Given the description of an element on the screen output the (x, y) to click on. 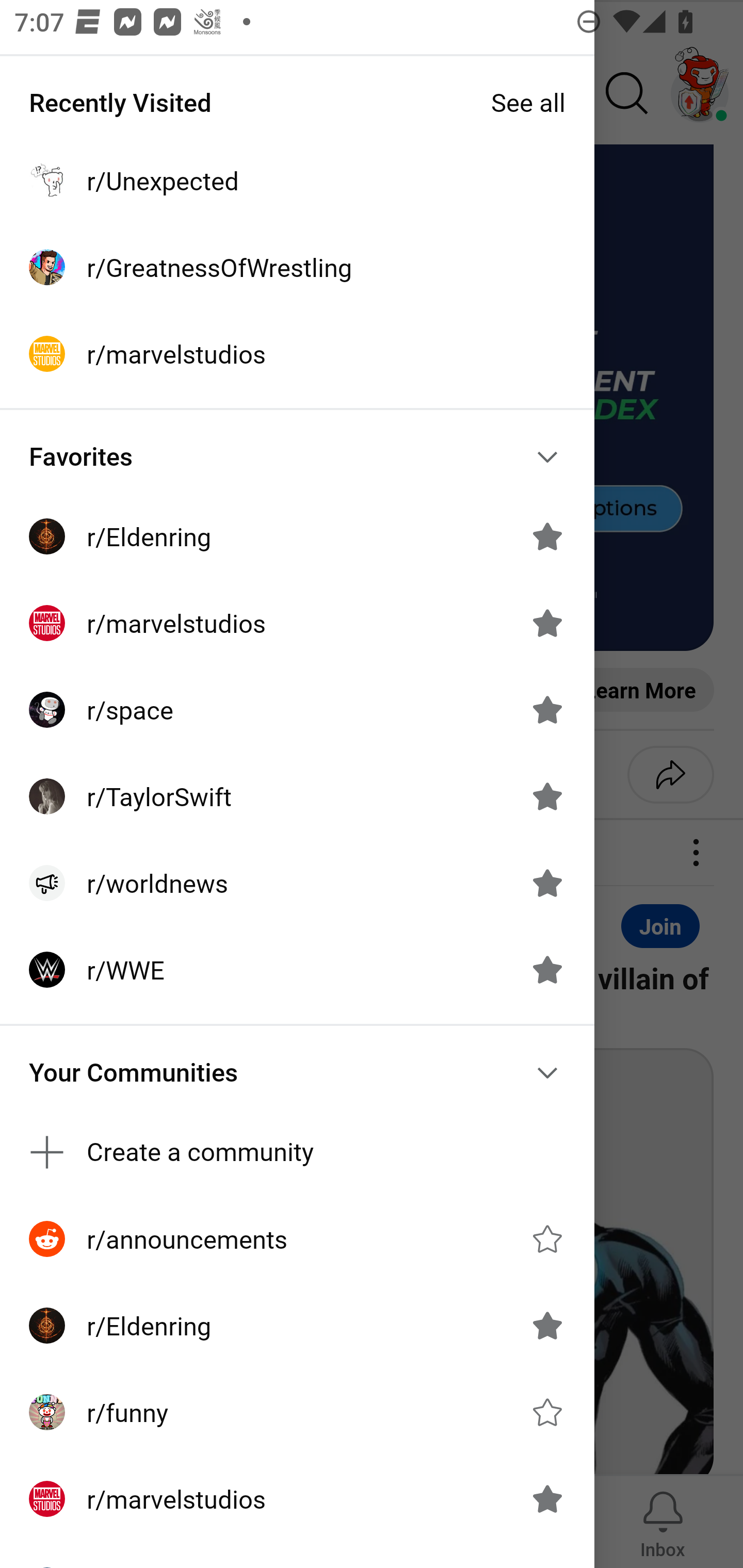
Recently Visited See all (297, 102)
See all (528, 102)
r/Unexpected (297, 180)
r/GreatnessOfWrestling (297, 267)
r/marvelstudios (297, 353)
Favorites (297, 456)
r/Eldenring Unfavorite r/Eldenring (297, 536)
Unfavorite r/Eldenring (546, 536)
r/marvelstudios Unfavorite r/marvelstudios (297, 623)
Unfavorite r/marvelstudios (546, 623)
r/space Unfavorite r/space (297, 709)
Unfavorite r/space (546, 709)
r/TaylorSwift Unfavorite r/TaylorSwift (297, 796)
Unfavorite r/TaylorSwift (546, 796)
r/worldnews Unfavorite r/worldnews (297, 883)
Unfavorite r/worldnews (546, 882)
r/WWE Unfavorite r/WWE (297, 969)
Unfavorite r/WWE (546, 969)
Your Communities (297, 1072)
Create a community (297, 1151)
r/announcements Favorite r/announcements (297, 1238)
Favorite r/announcements (546, 1238)
r/Eldenring Unfavorite r/Eldenring (297, 1325)
Unfavorite r/Eldenring (546, 1325)
r/funny Favorite r/funny (297, 1411)
Favorite r/funny (546, 1411)
r/marvelstudios Unfavorite r/marvelstudios (297, 1498)
Unfavorite r/marvelstudios (546, 1498)
